Given the description of an element on the screen output the (x, y) to click on. 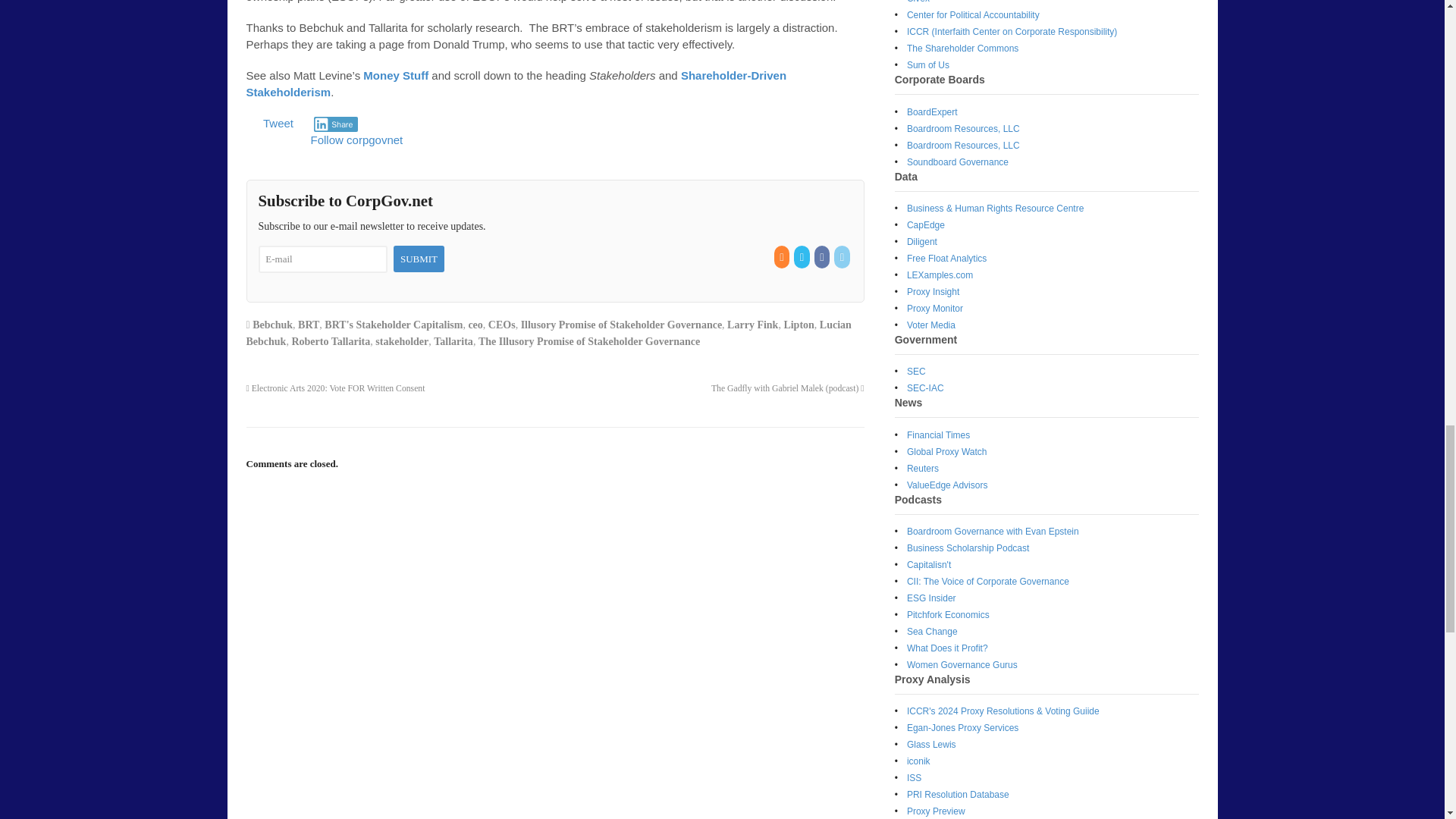
Facebook (822, 256)
Submit (418, 258)
Twitter (801, 256)
LinkedIn (842, 256)
E-mail (322, 258)
RSS (783, 256)
